Given the description of an element on the screen output the (x, y) to click on. 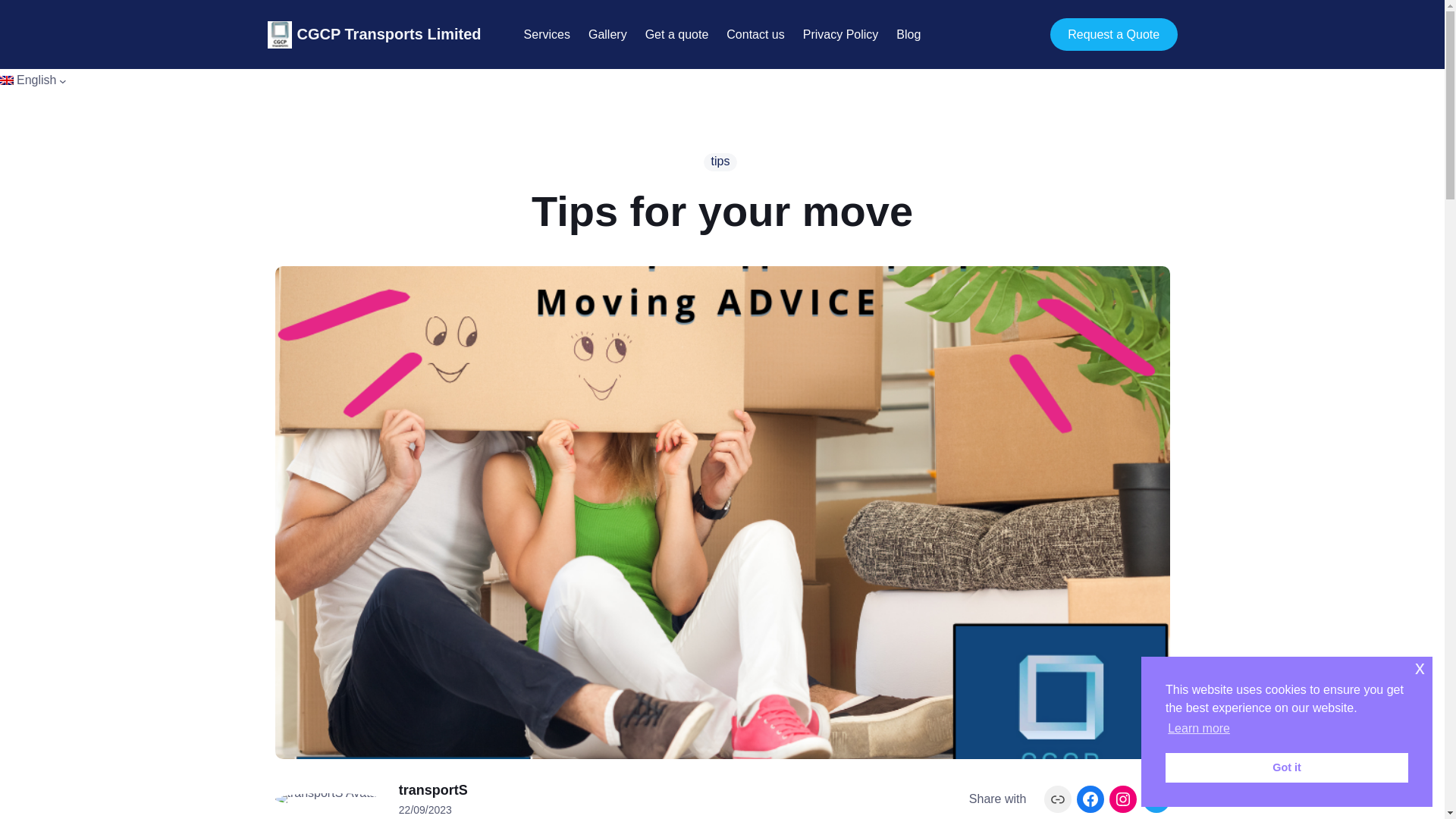
Instagram (1123, 799)
Gallery (607, 34)
Blog (908, 34)
Facebook (1090, 799)
tips (720, 162)
Twitter (1155, 799)
Privacy Policy (841, 34)
Request a Quote (1113, 34)
Services (547, 34)
Link (1057, 799)
CGCP Transports Limited (389, 33)
Get a quote (677, 34)
Contact us (755, 34)
